Given the description of an element on the screen output the (x, y) to click on. 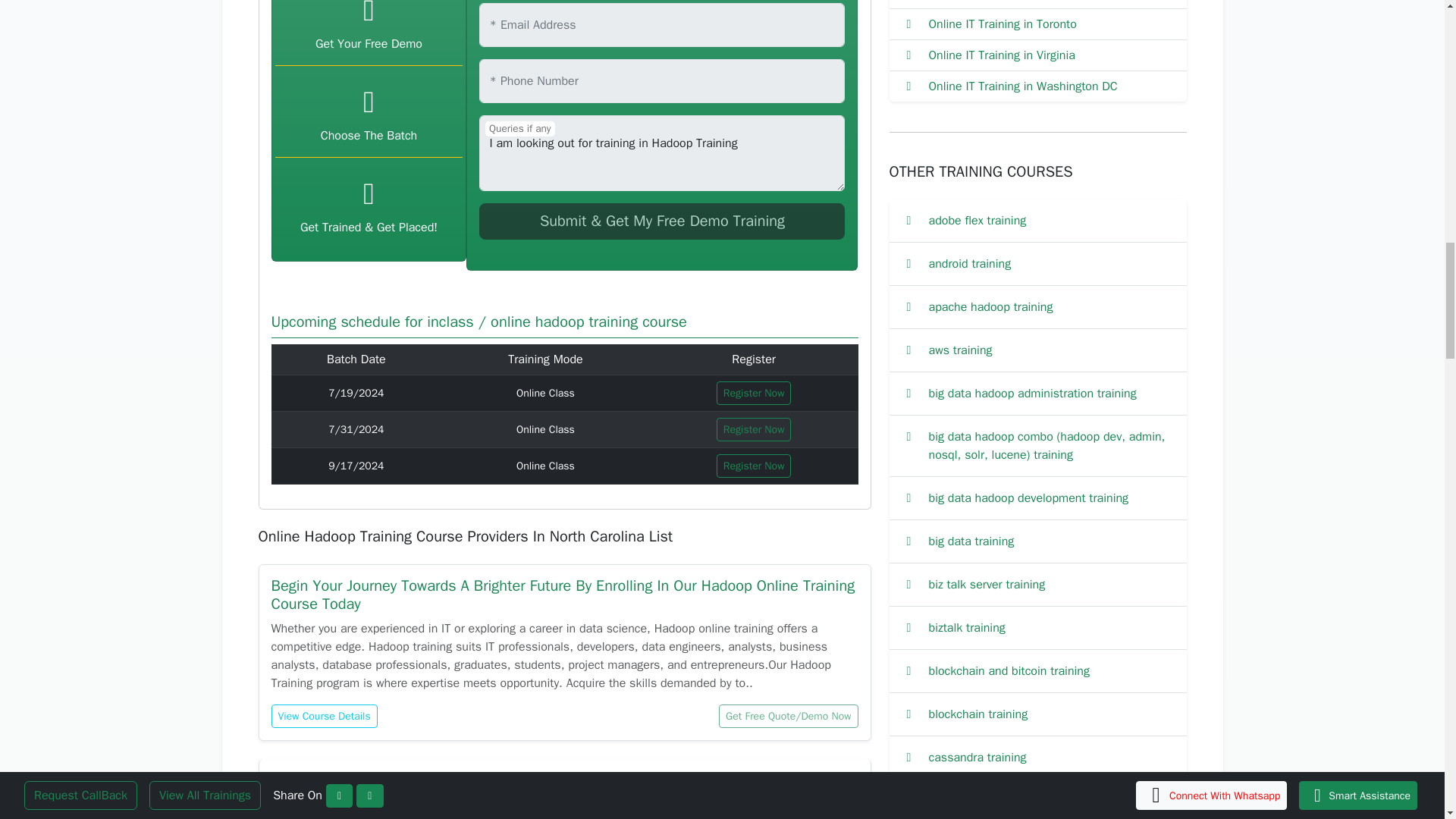
Register Now (754, 392)
Get Hadoop Training Free Demo Video (661, 221)
Register Now (754, 429)
View Course Details (323, 716)
Register Now (754, 465)
